Given the description of an element on the screen output the (x, y) to click on. 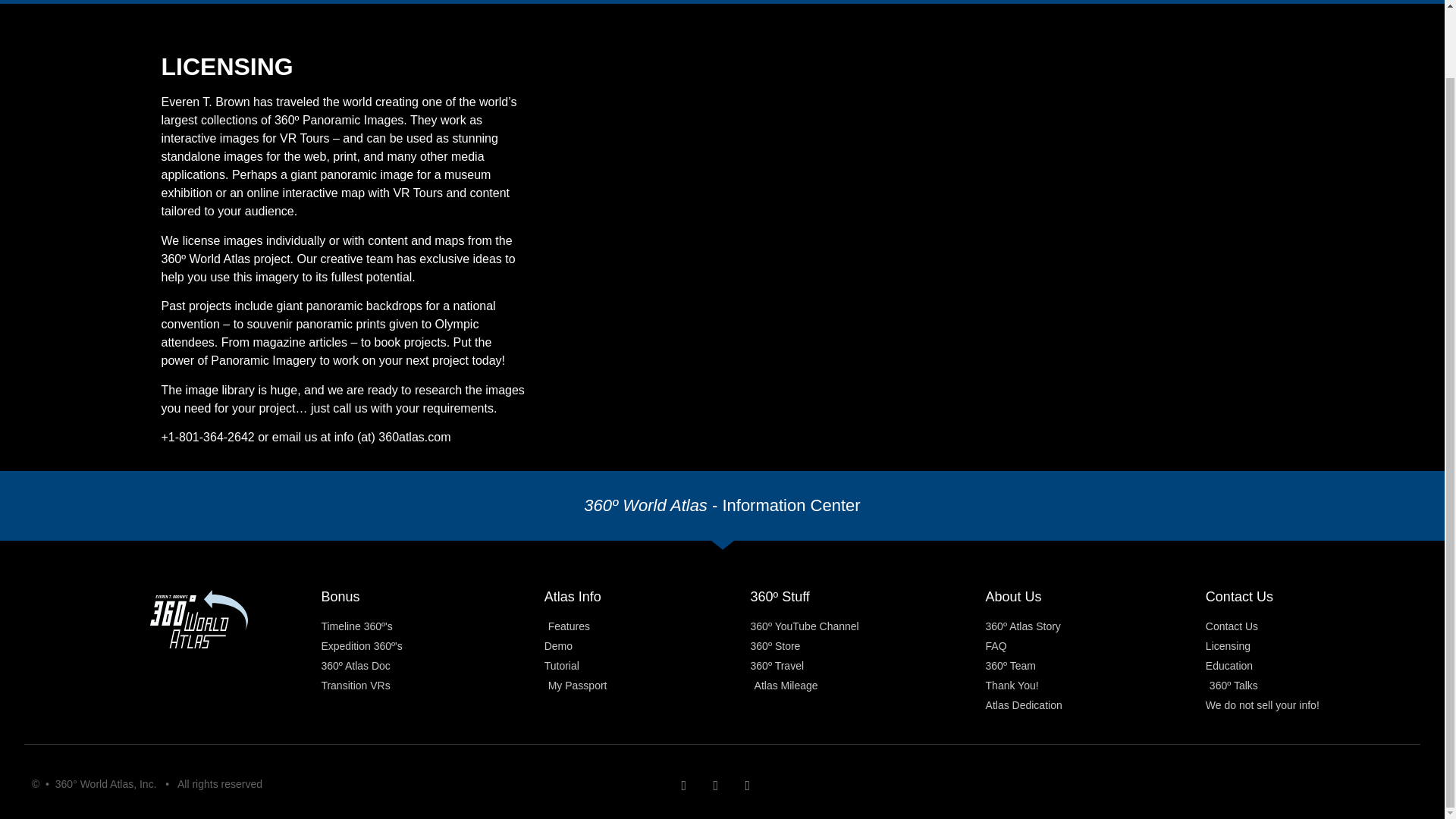
FAQ (1095, 646)
Contact Us (1305, 626)
Education (1305, 666)
Demo (647, 646)
We do not sell your info! (1305, 705)
Thank You! (1095, 685)
Atlas Dedication (1095, 705)
Licensing (1305, 646)
Tutorial (647, 666)
My Passport (647, 685)
